Given the description of an element on the screen output the (x, y) to click on. 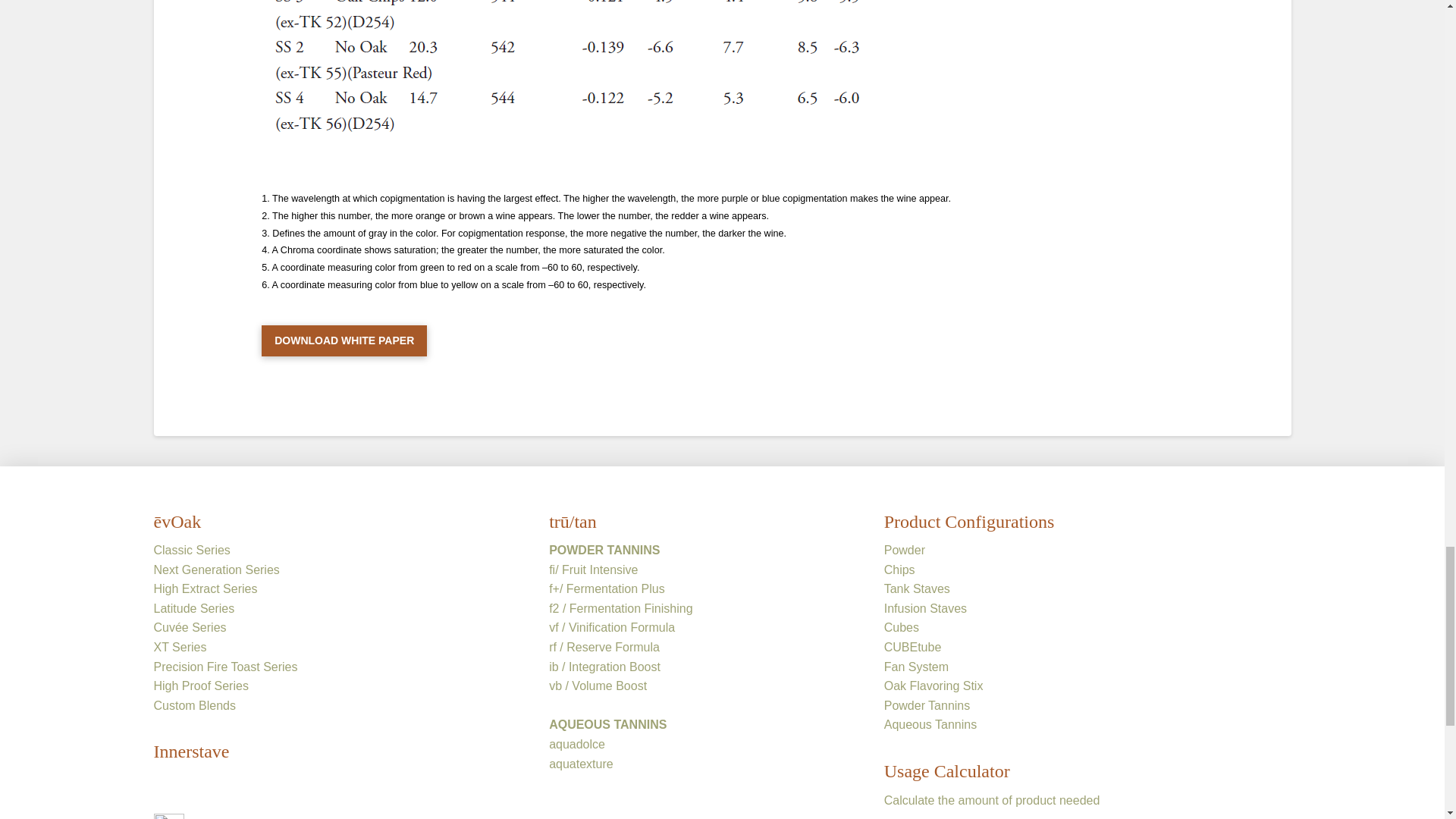
High Proof Series (199, 685)
Latitude Series (193, 608)
DOWNLOAD WHITE PAPER (344, 340)
Next Generation Series (215, 569)
Custom Blends (193, 705)
AQUEOUS TANNINS (607, 724)
POWDER TANNINS (603, 549)
Precision Fire Toast Series (224, 666)
XT Series (179, 646)
Classic Series (191, 549)
High Extract Series (204, 588)
Innerstave (190, 751)
